Given the description of an element on the screen output the (x, y) to click on. 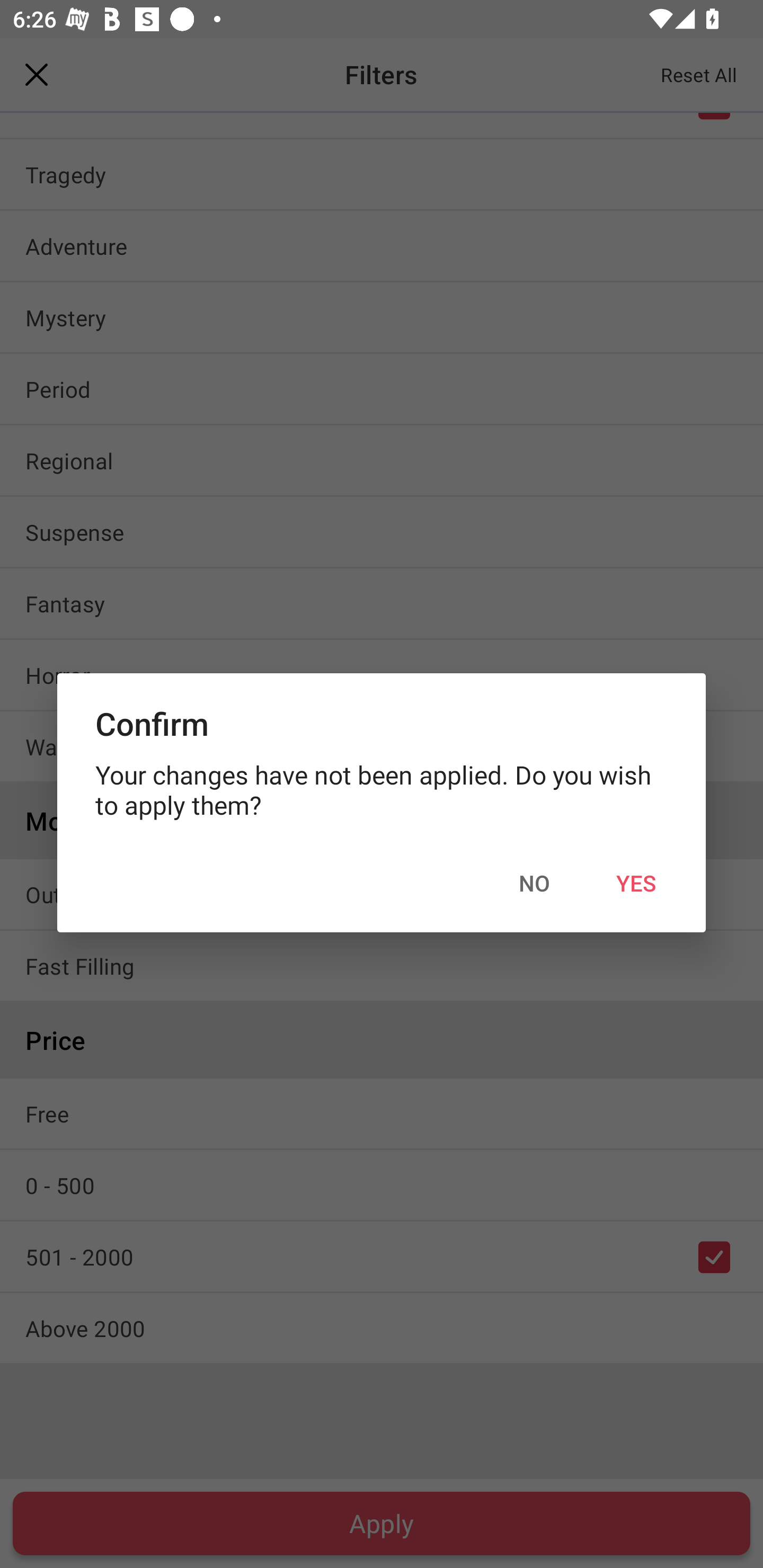
NO (533, 883)
YES (635, 883)
